Given the description of an element on the screen output the (x, y) to click on. 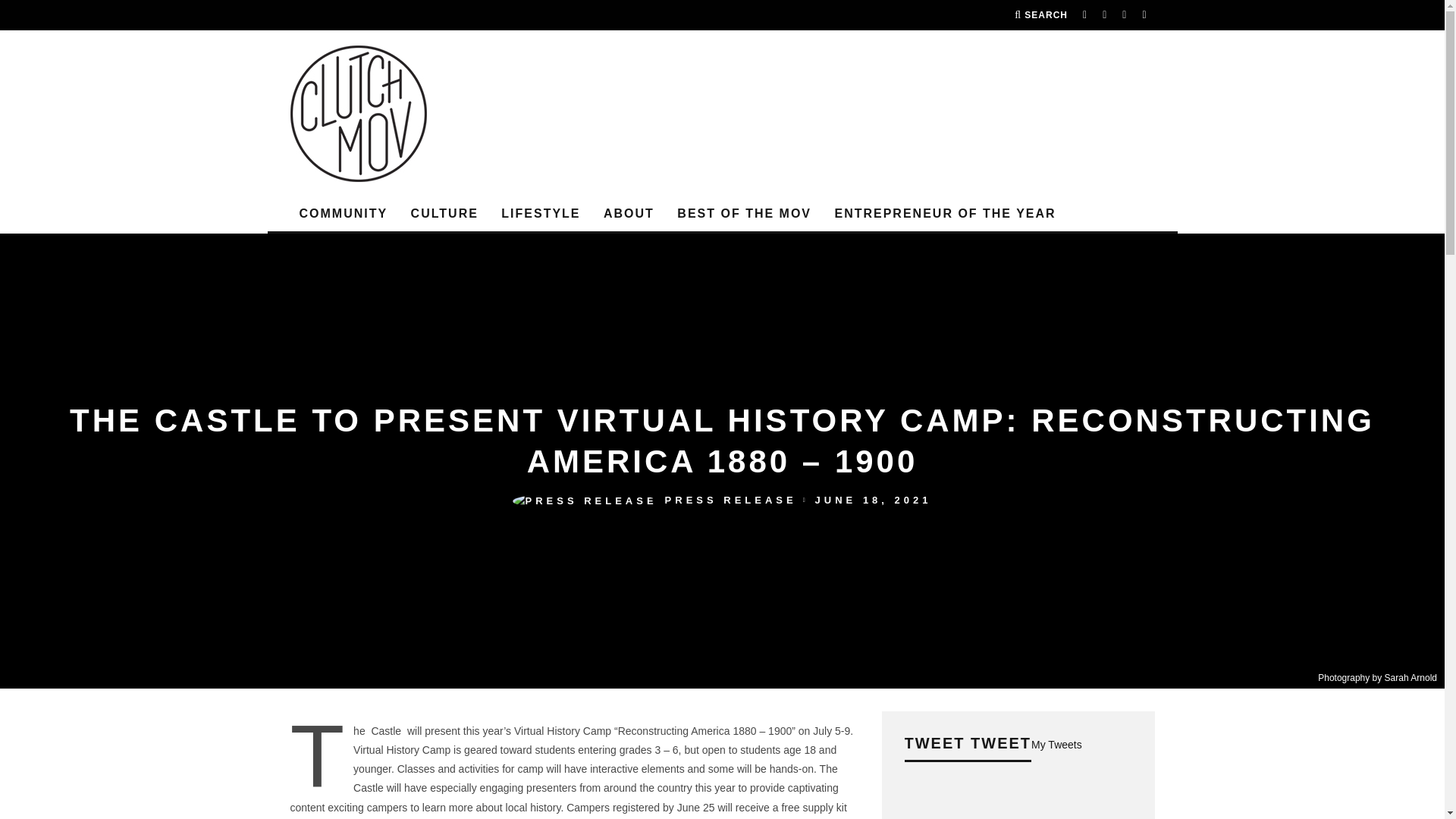
Search (1040, 15)
COMMUNITY (342, 213)
SEARCH (1040, 15)
CULTURE (444, 213)
